Given the description of an element on the screen output the (x, y) to click on. 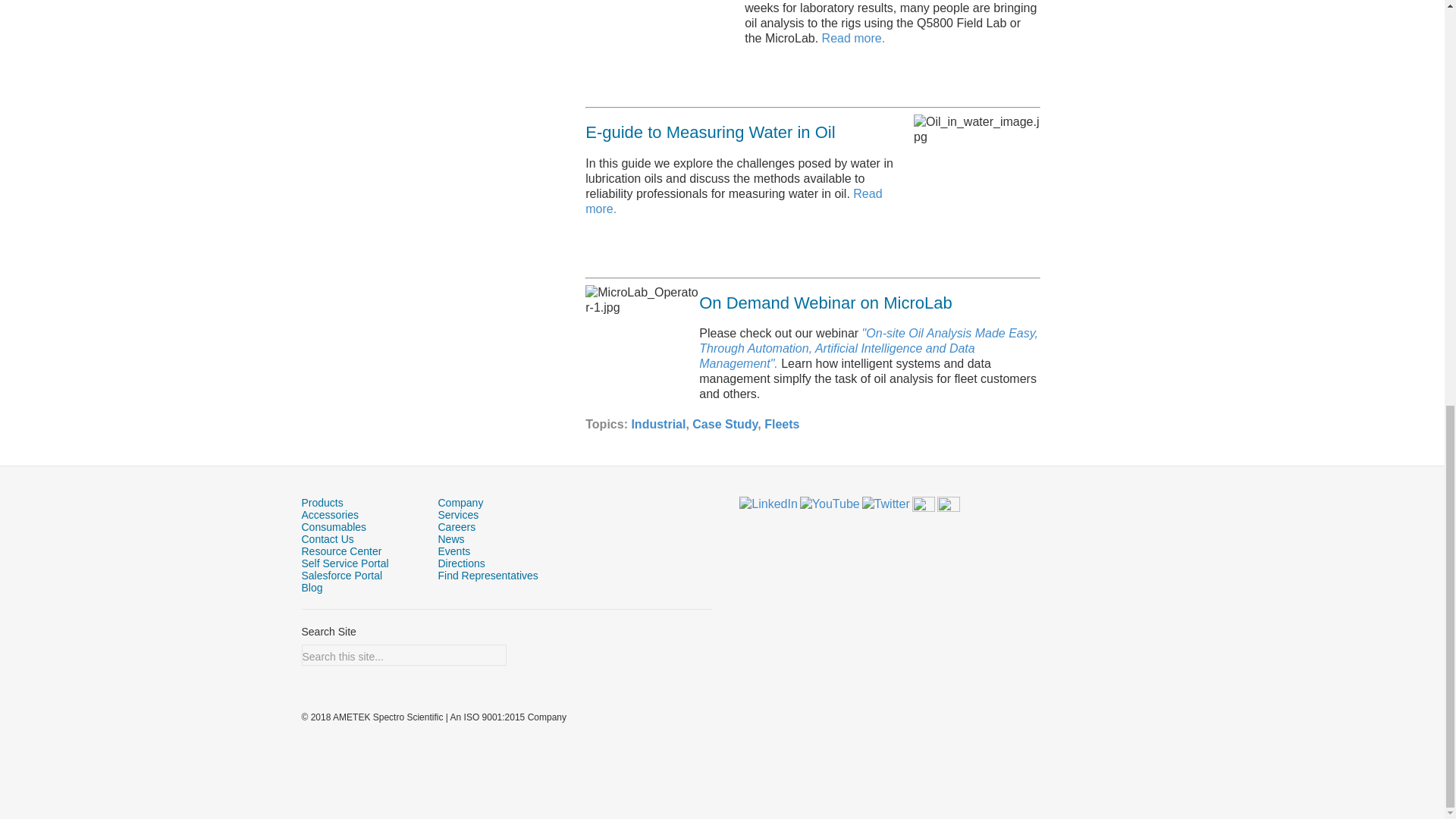
Industrial (657, 423)
Search this site... (397, 657)
Accessories (329, 514)
Self Service Portal (344, 563)
Company (460, 502)
Contact Us (327, 539)
Read more. (853, 38)
Blog (312, 587)
Case Study (725, 423)
